Given the description of an element on the screen output the (x, y) to click on. 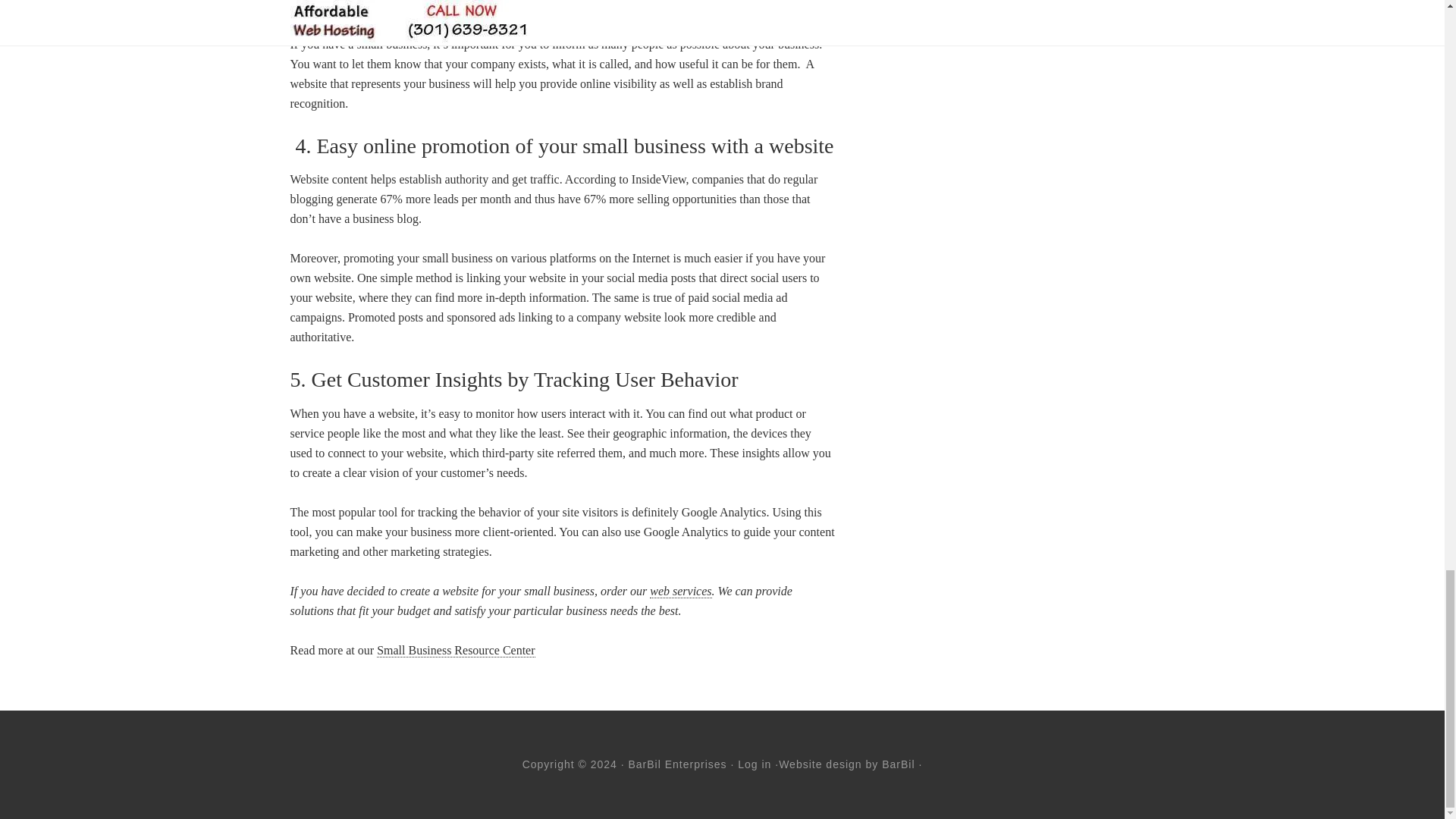
Small Business Resource Center (455, 650)
web services (680, 591)
